Given the description of an element on the screen output the (x, y) to click on. 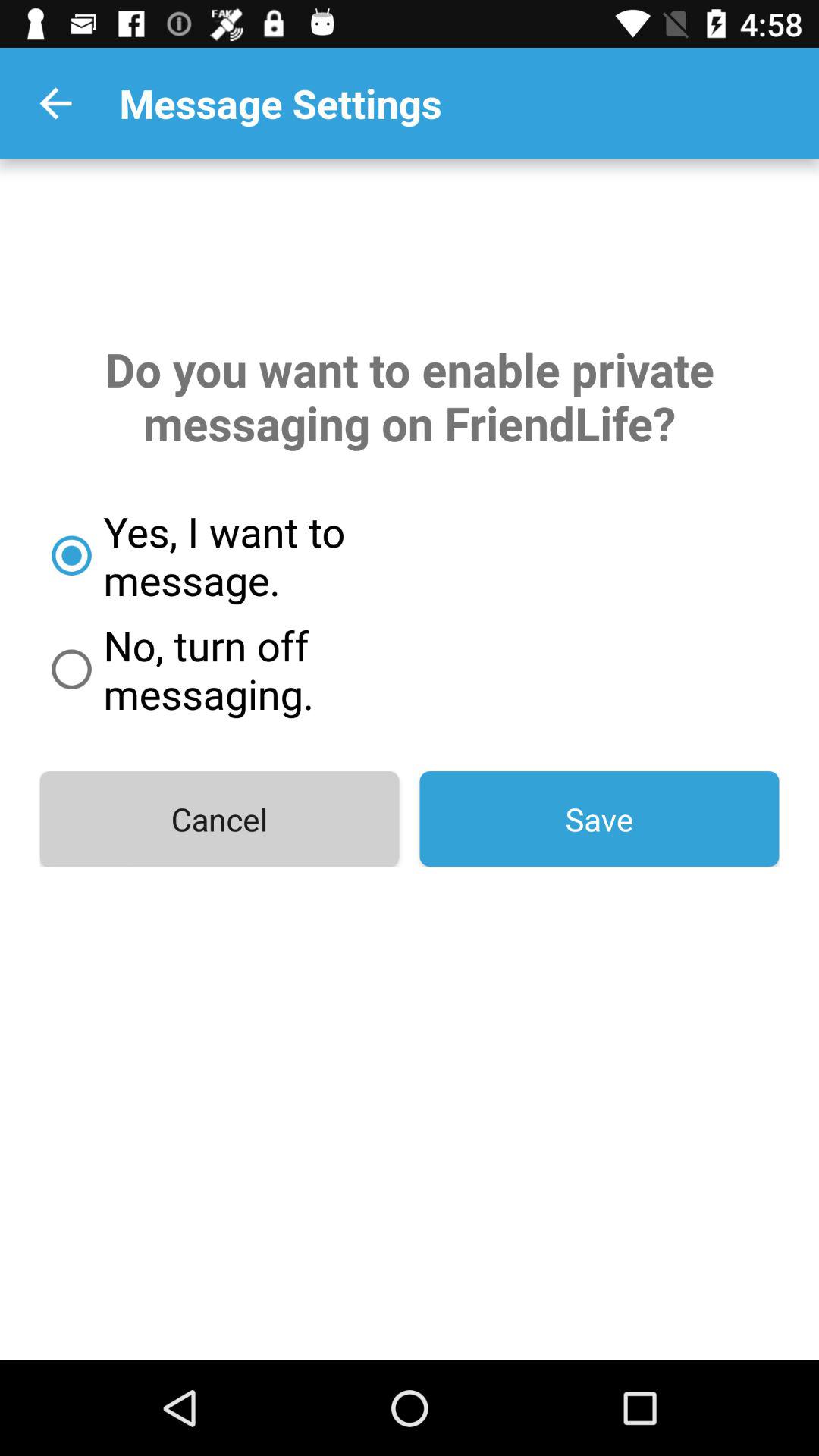
scroll to the yes i want item (278, 555)
